Given the description of an element on the screen output the (x, y) to click on. 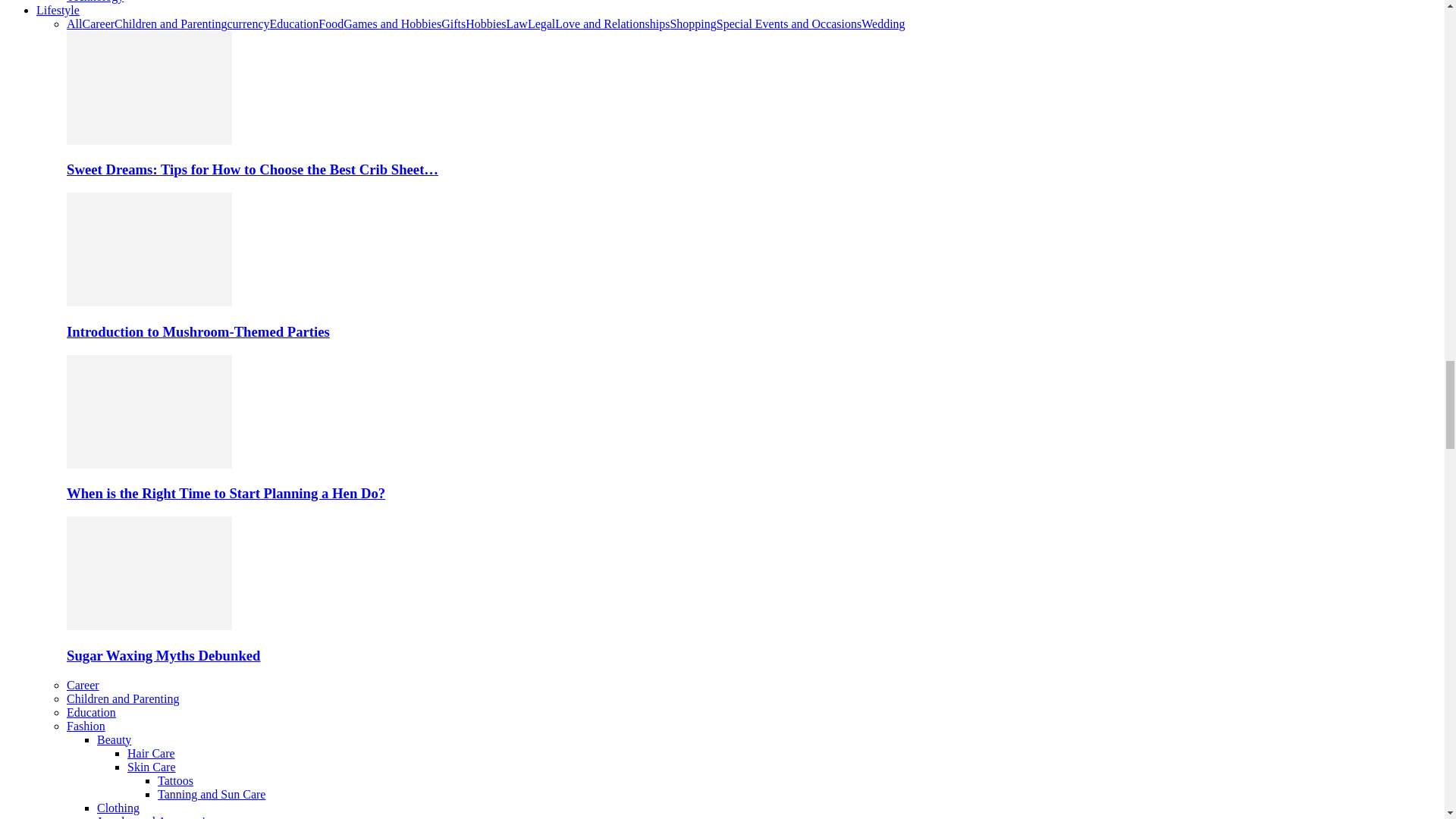
Introduction to Mushroom-Themed Parties (148, 301)
